Given the description of an element on the screen output the (x, y) to click on. 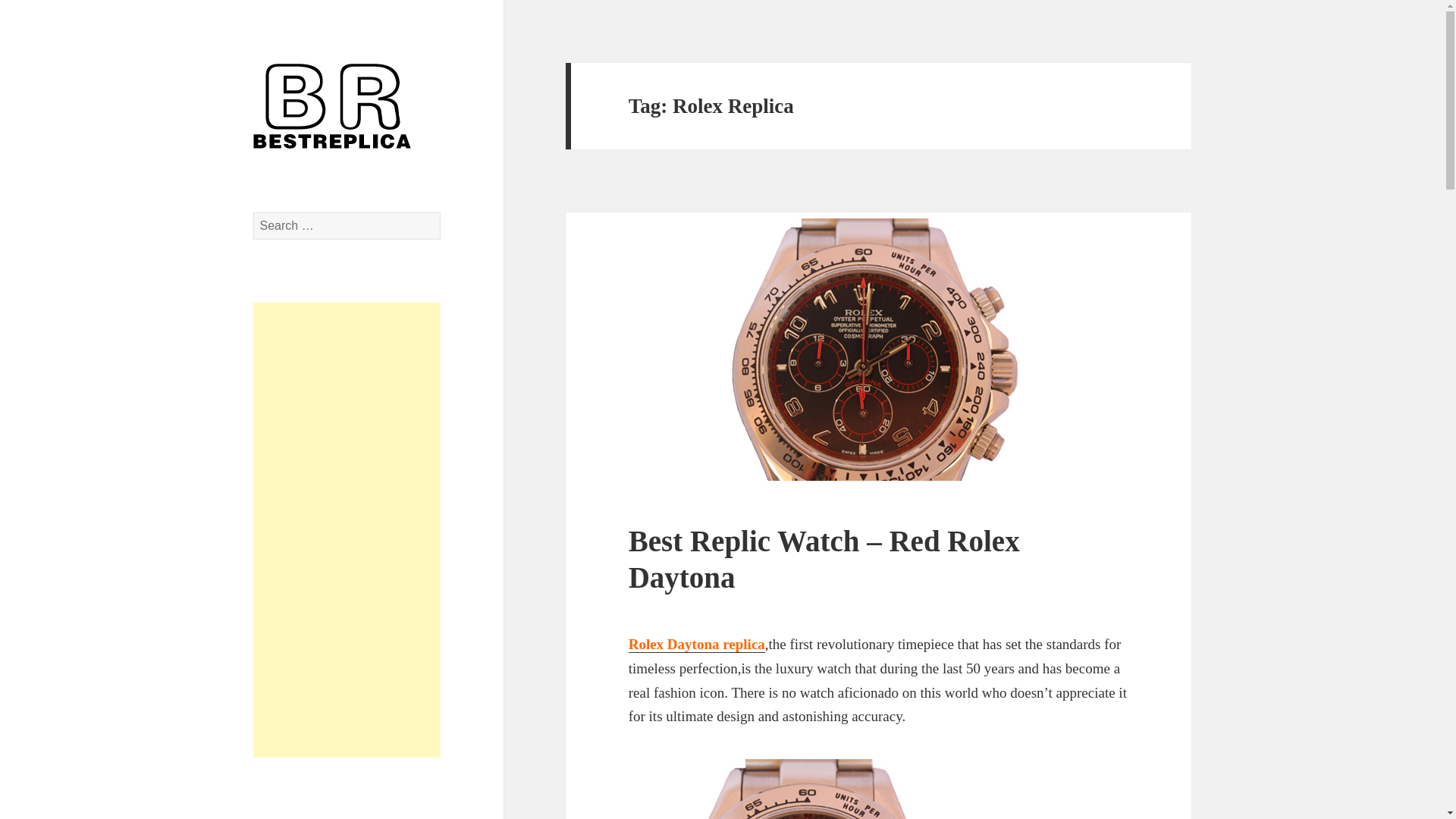
Advertisement (347, 529)
